Given the description of an element on the screen output the (x, y) to click on. 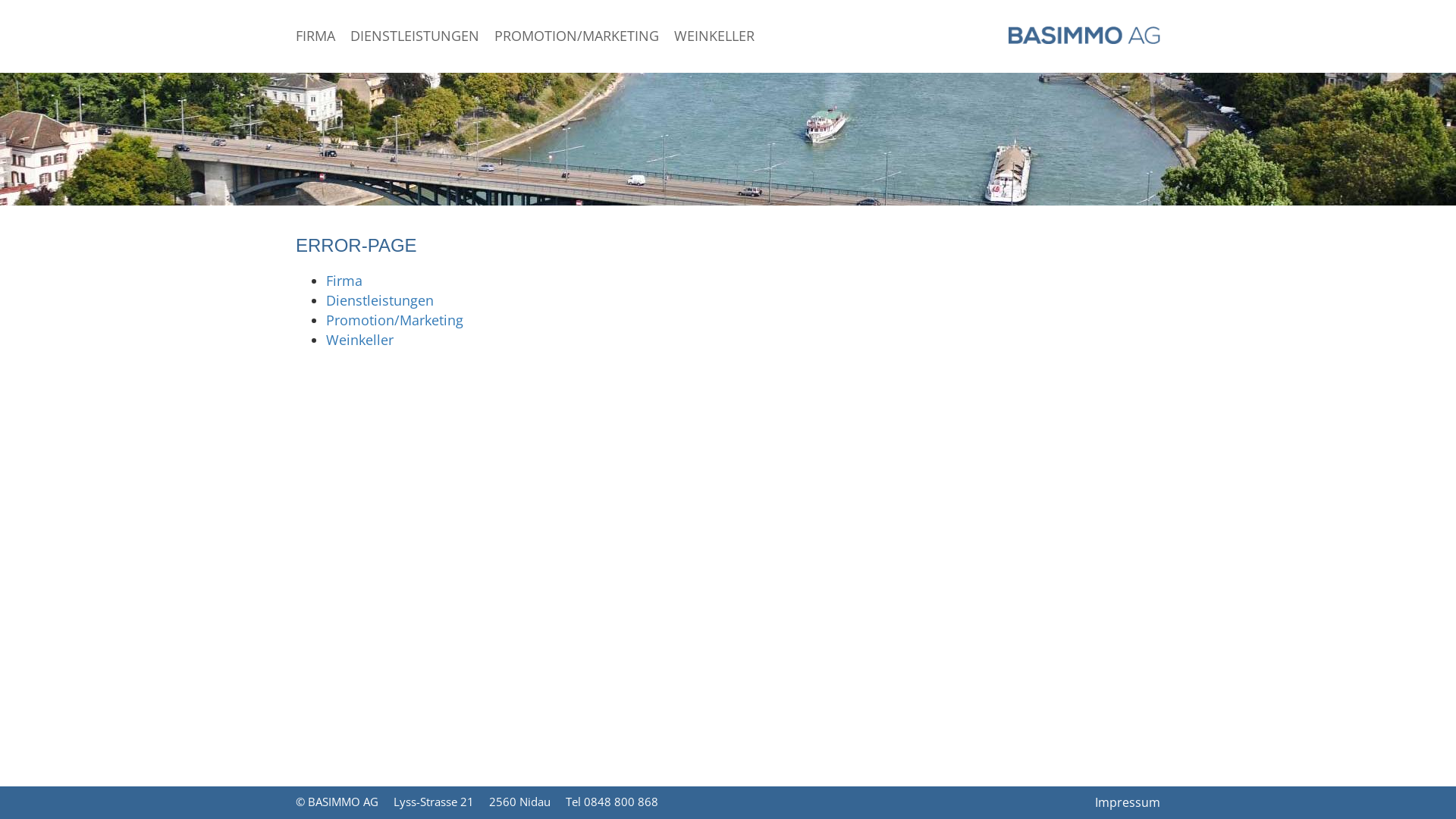
WEINKELLER Element type: text (714, 37)
Dienstleistungen Element type: text (379, 300)
Weinkeller Element type: text (359, 339)
Firma Element type: text (344, 280)
FIRMA Element type: text (315, 37)
Impressum Element type: text (1127, 801)
Promotion/Marketing Element type: text (394, 319)
DIENSTLEISTUNGEN Element type: text (414, 37)
PROMOTION/MARKETING Element type: text (576, 37)
